Given the description of an element on the screen output the (x, y) to click on. 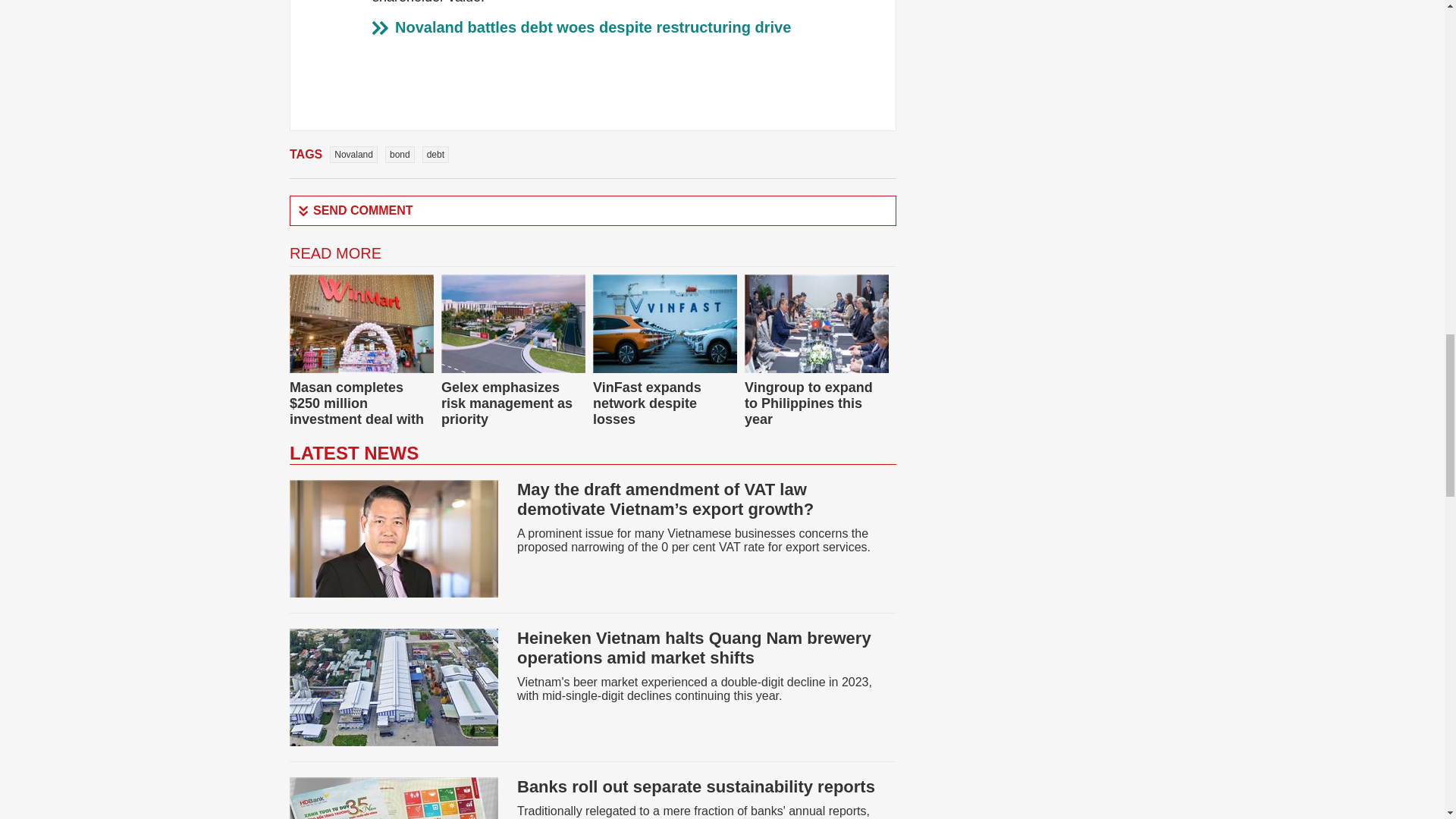
Vingroup to expand to Philippines this year (808, 403)
debt (435, 154)
Novaland (353, 154)
Banks roll out separate sustainability reports (695, 786)
Novaland battles debt woes despite restructuring drive (592, 27)
debt (435, 154)
bond (399, 154)
VinFast expands network despite losses (646, 403)
Novaland (353, 154)
Novaland battles debt woes despite restructuring drive (592, 27)
bond (399, 154)
SEND COMMENT (592, 210)
Gelex emphasizes risk management as priority (506, 403)
